Given the description of an element on the screen output the (x, y) to click on. 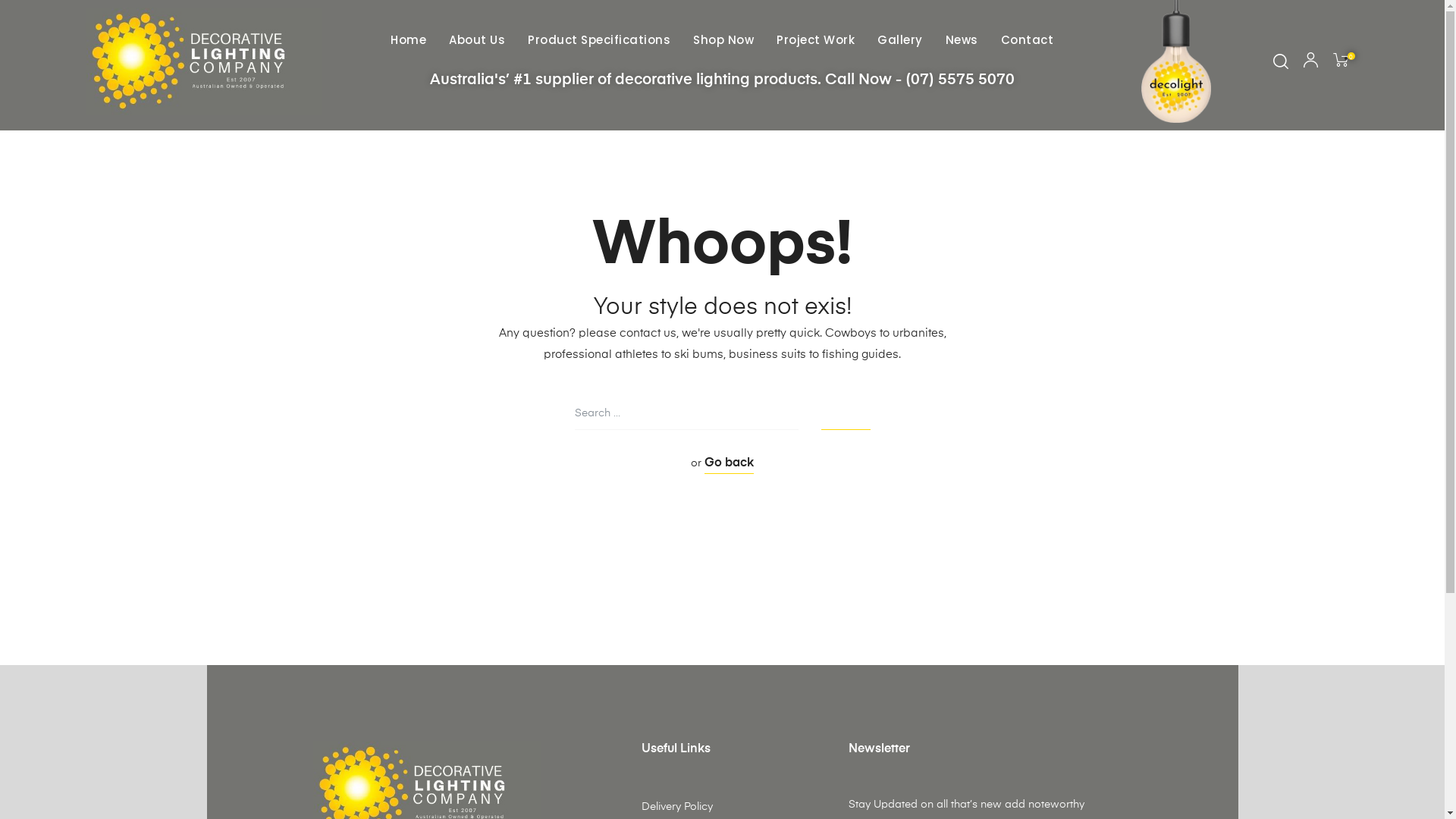
0 Element type: text (1344, 61)
Delivery Policy Element type: text (722, 806)
Shop Now Element type: text (723, 39)
Search Element type: text (844, 413)
Gallery Element type: text (899, 39)
(07) 5575 5070 Element type: text (959, 79)
Home Element type: text (407, 39)
Contact Element type: text (1027, 39)
News Element type: text (961, 39)
Project Work Element type: text (815, 39)
Go back Element type: text (728, 465)
About Us Element type: text (476, 39)
Product Specifications Element type: text (598, 39)
